Given the description of an element on the screen output the (x, y) to click on. 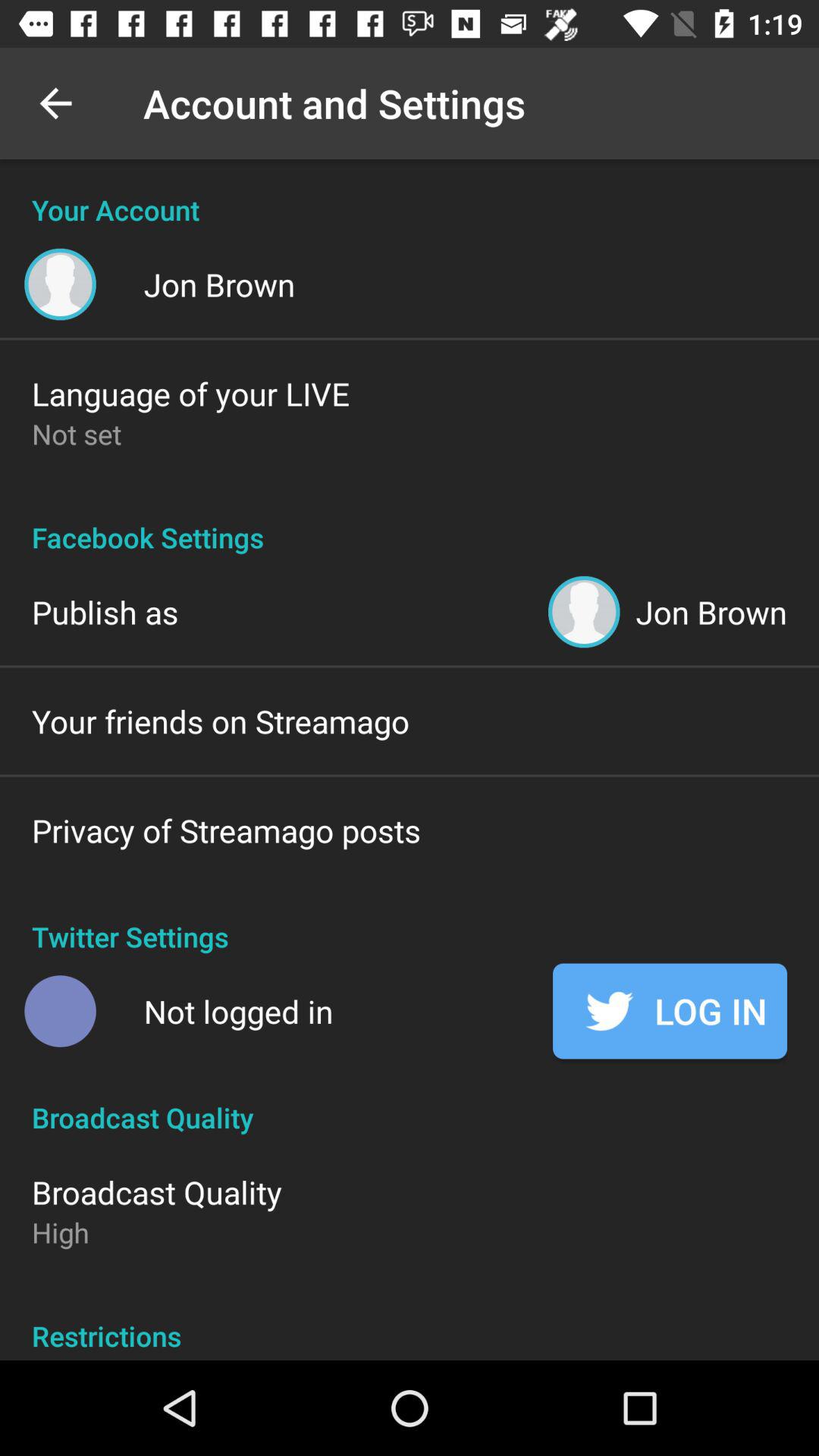
turn off item next to the not logged in (669, 1011)
